Given the description of an element on the screen output the (x, y) to click on. 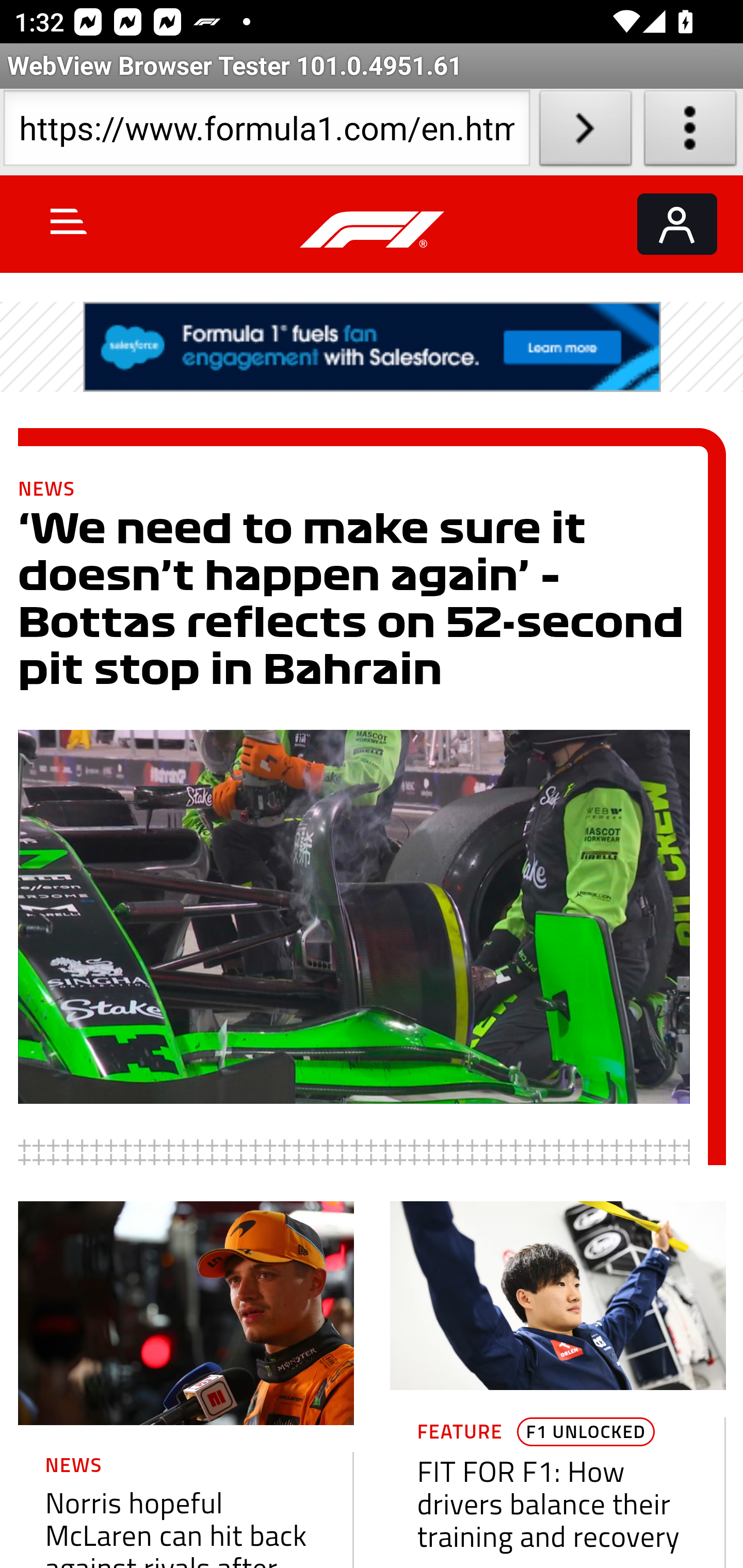
https://www.formula1.com/en.html (266, 132)
Load URL (585, 132)
About WebView (690, 132)
Toggle Menu (68, 220)
Formula 1 (372, 230)
 Login/Register  Login/Register (677, 223)
Advertisement (372, 347)
